Given the description of an element on the screen output the (x, y) to click on. 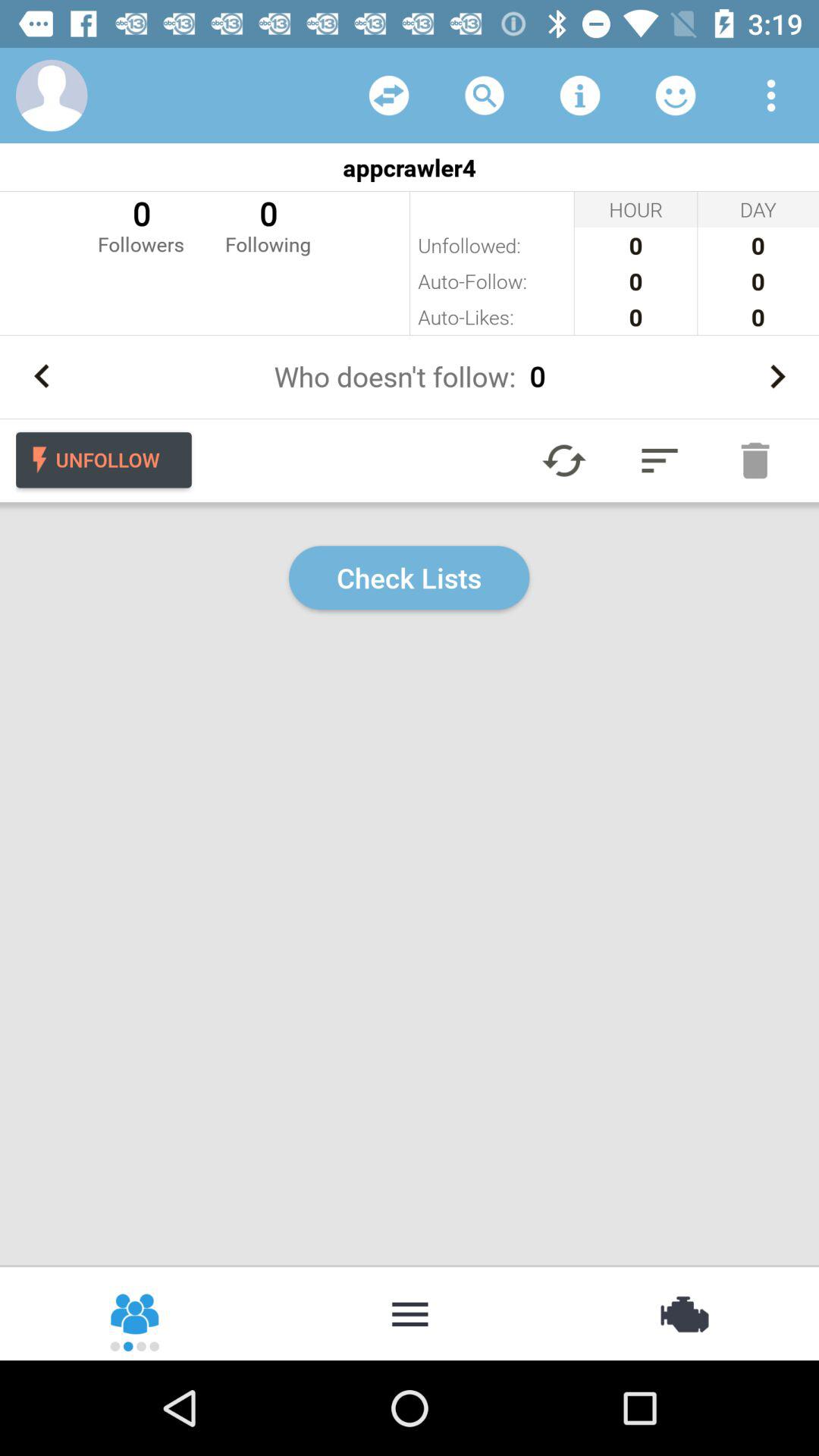
press trash button (755, 460)
